Given the description of an element on the screen output the (x, y) to click on. 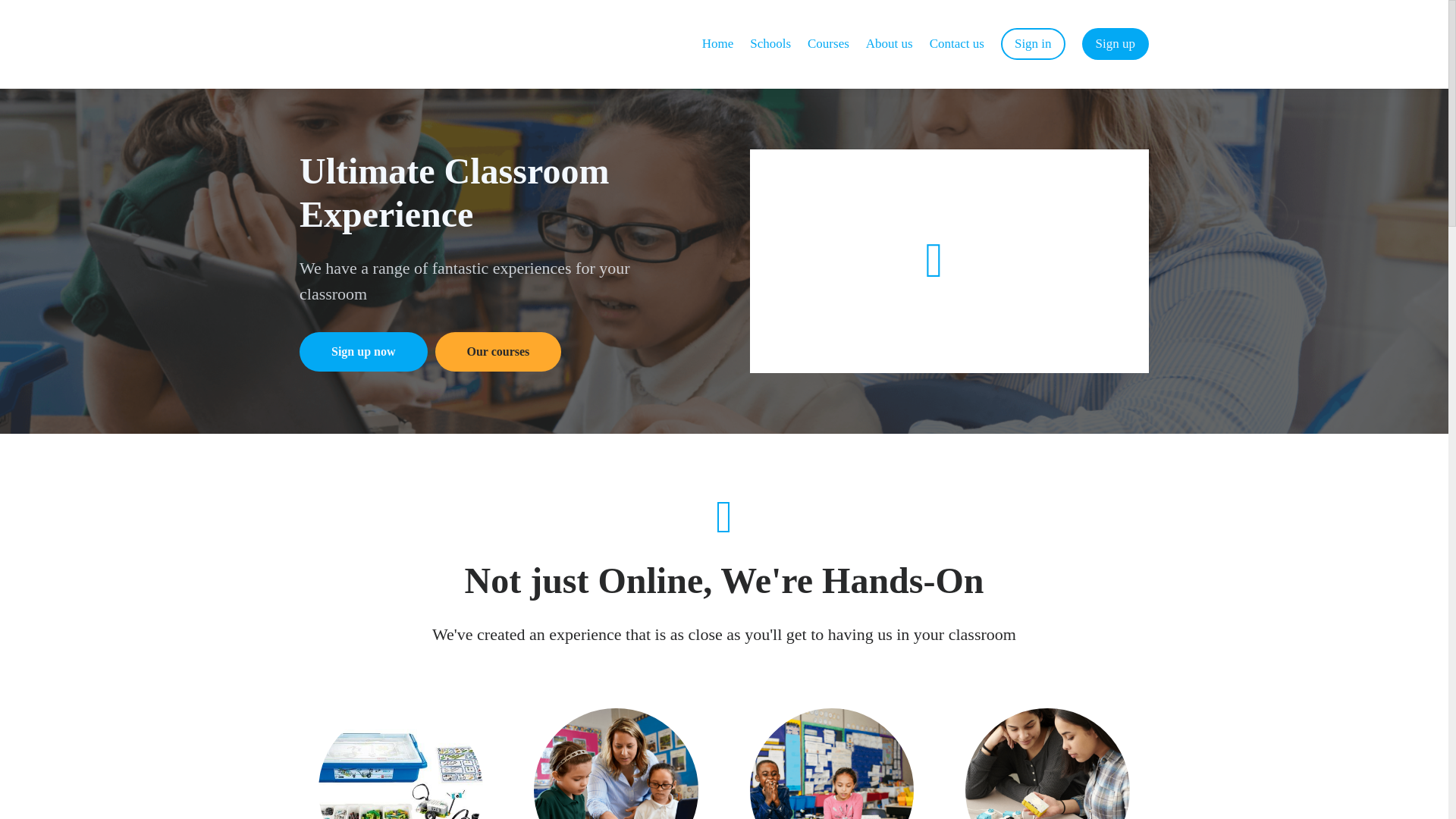
About us (889, 44)
Sign up (1114, 43)
Contact us (957, 44)
Home (717, 44)
Sign in (1033, 43)
Schools (769, 44)
Sign up now (363, 351)
Courses (828, 44)
Our courses (498, 351)
